Given the description of an element on the screen output the (x, y) to click on. 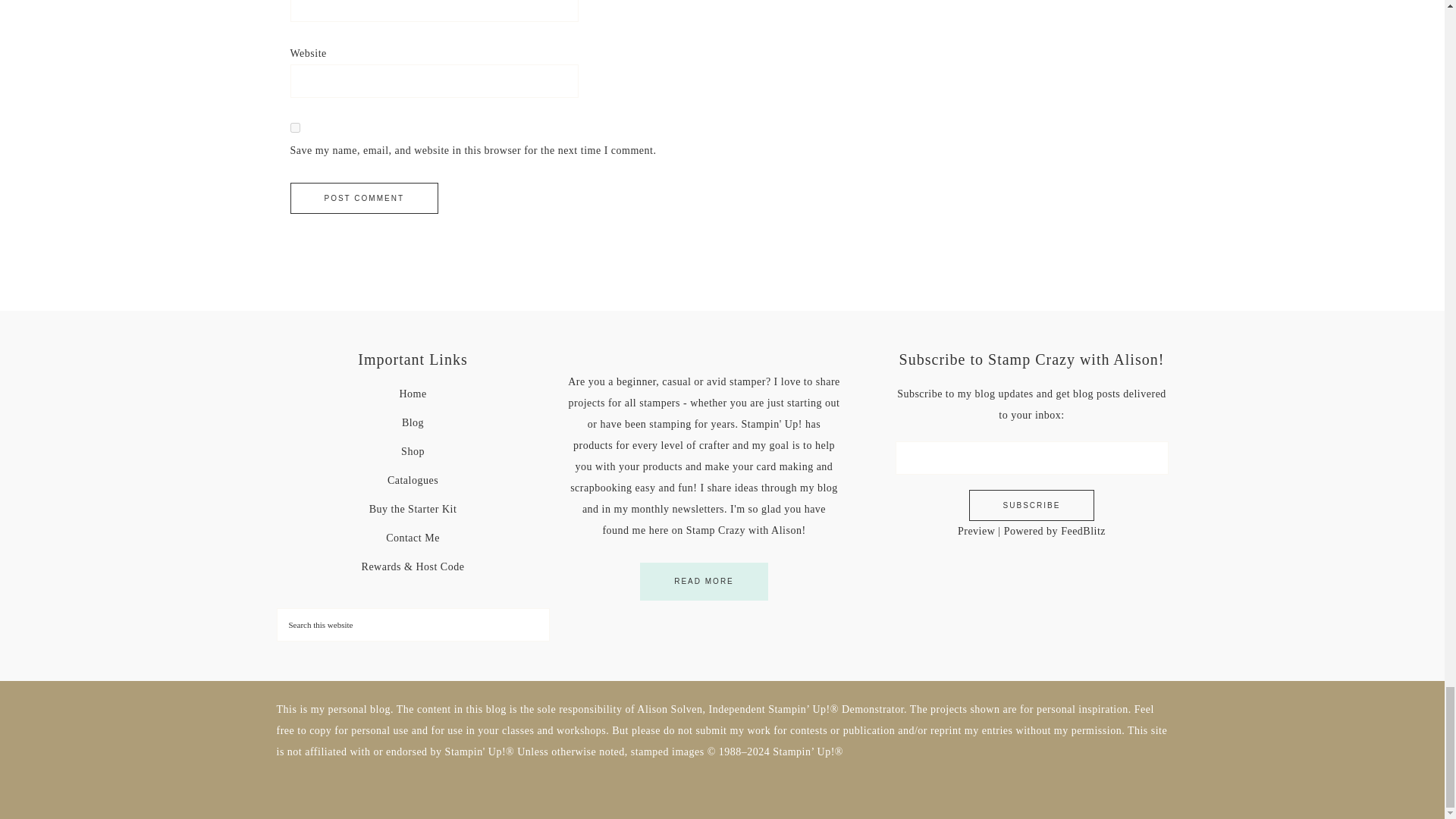
Post Comment (363, 197)
Subscribe (1031, 504)
yes (294, 127)
